Given the description of an element on the screen output the (x, y) to click on. 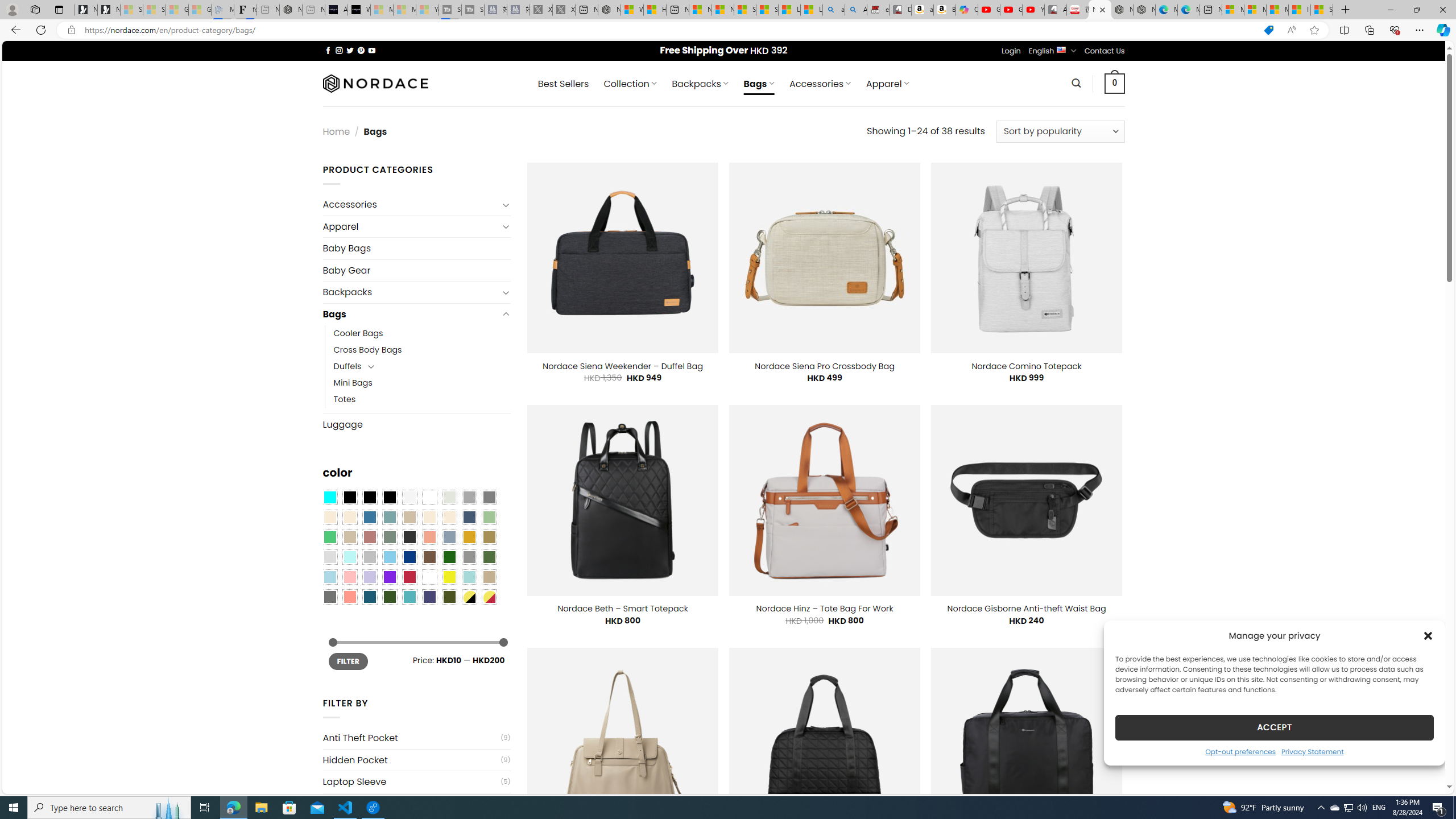
Apparel (410, 226)
Mint (349, 557)
Follow on Twitter (349, 49)
amazon - Search (834, 9)
Light Purple (369, 577)
Teal (408, 596)
Streaming Coverage | T3 - Sleeping (449, 9)
Read aloud this page (Ctrl+Shift+U) (1291, 29)
Hale Navy (468, 517)
